Given the description of an element on the screen output the (x, y) to click on. 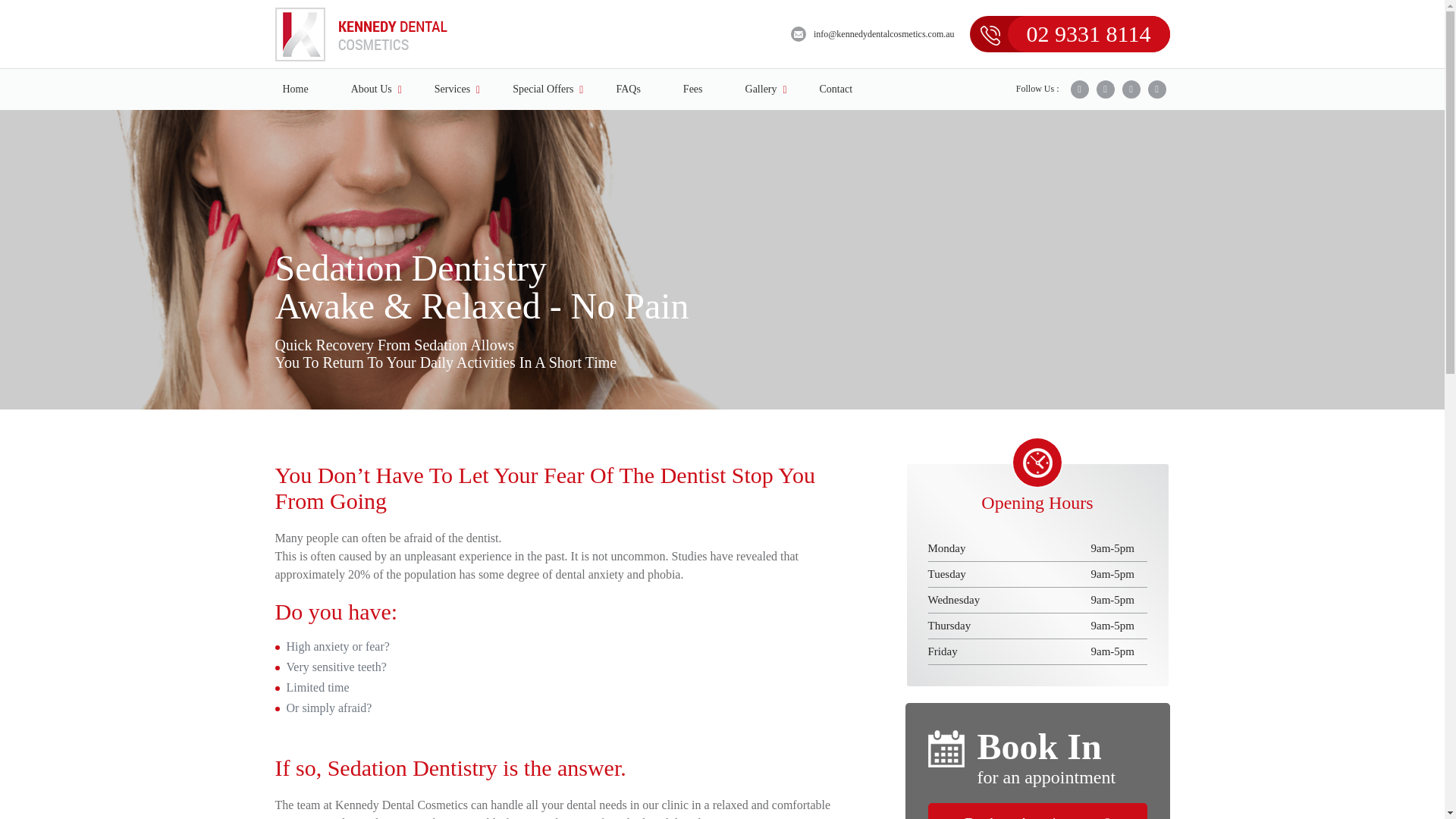
Home (295, 88)
02 9331 8114 (1088, 33)
About Us (370, 88)
Book an Appointment (1037, 811)
Special Offers (542, 88)
Fees (692, 88)
FAQs (627, 88)
Services (451, 88)
Logo (360, 34)
Contact (836, 88)
Gallery (761, 88)
